Given the description of an element on the screen output the (x, y) to click on. 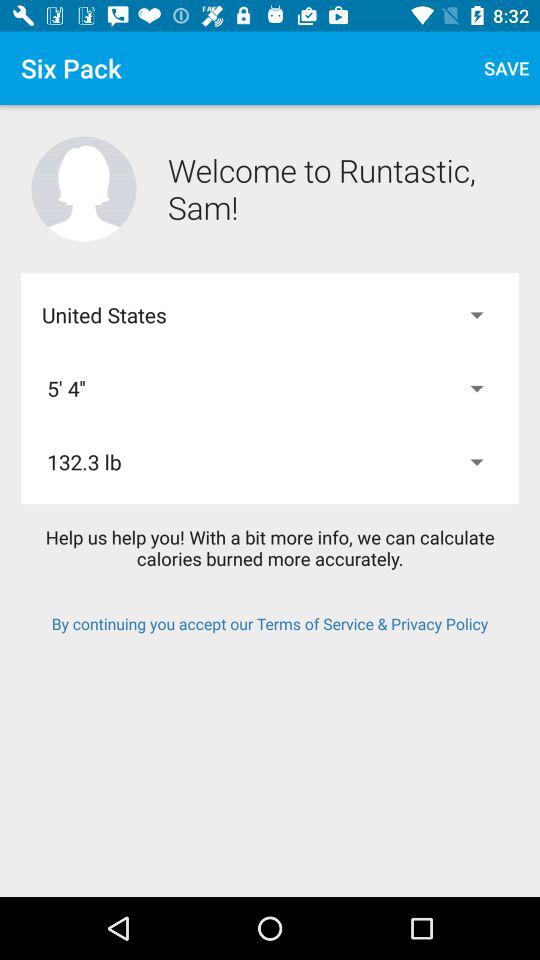
turn off item below united states icon (269, 388)
